Given the description of an element on the screen output the (x, y) to click on. 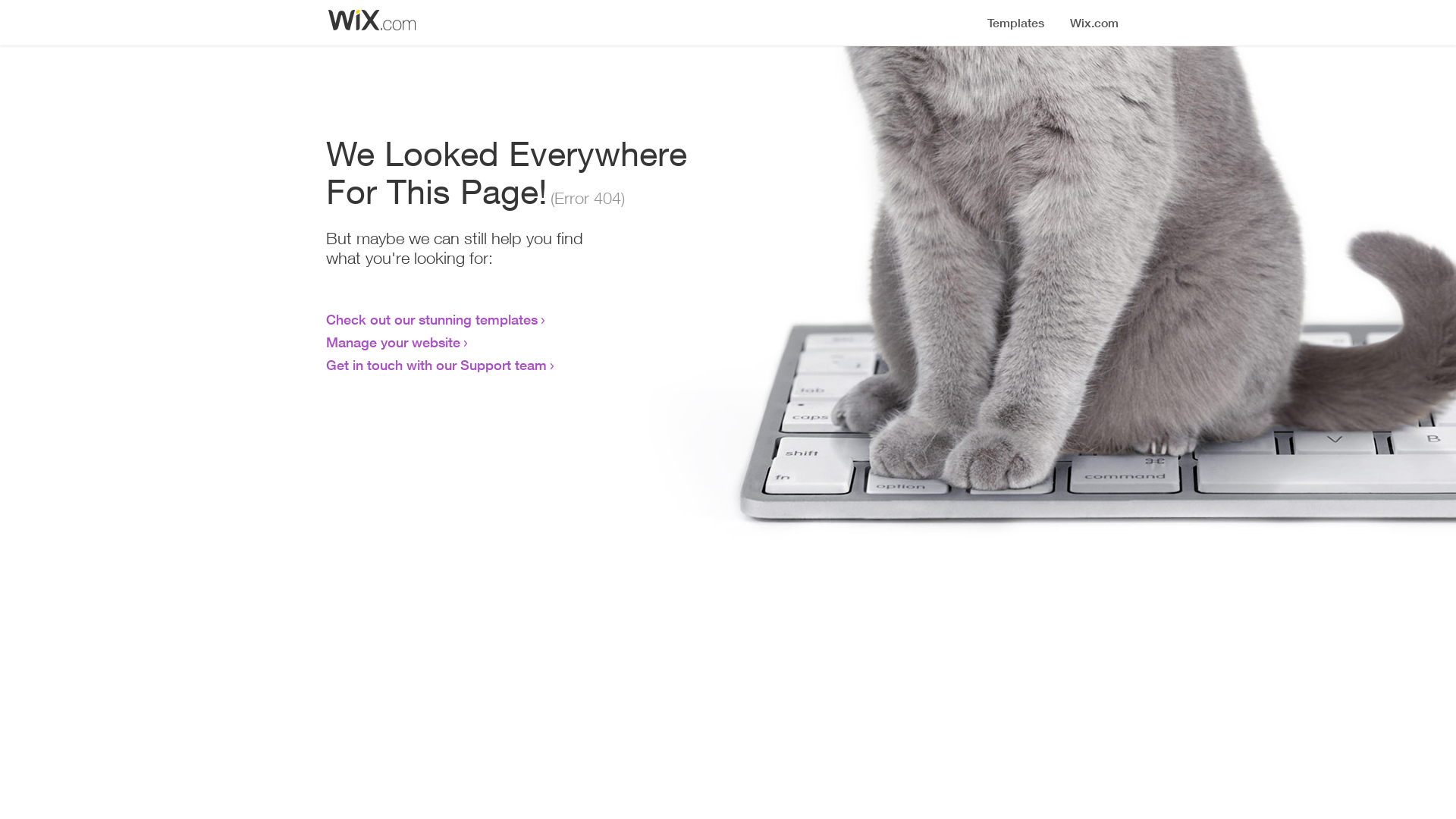
Check out our stunning templates Element type: text (431, 318)
Manage your website Element type: text (393, 341)
Get in touch with our Support team Element type: text (436, 364)
